Given the description of an element on the screen output the (x, y) to click on. 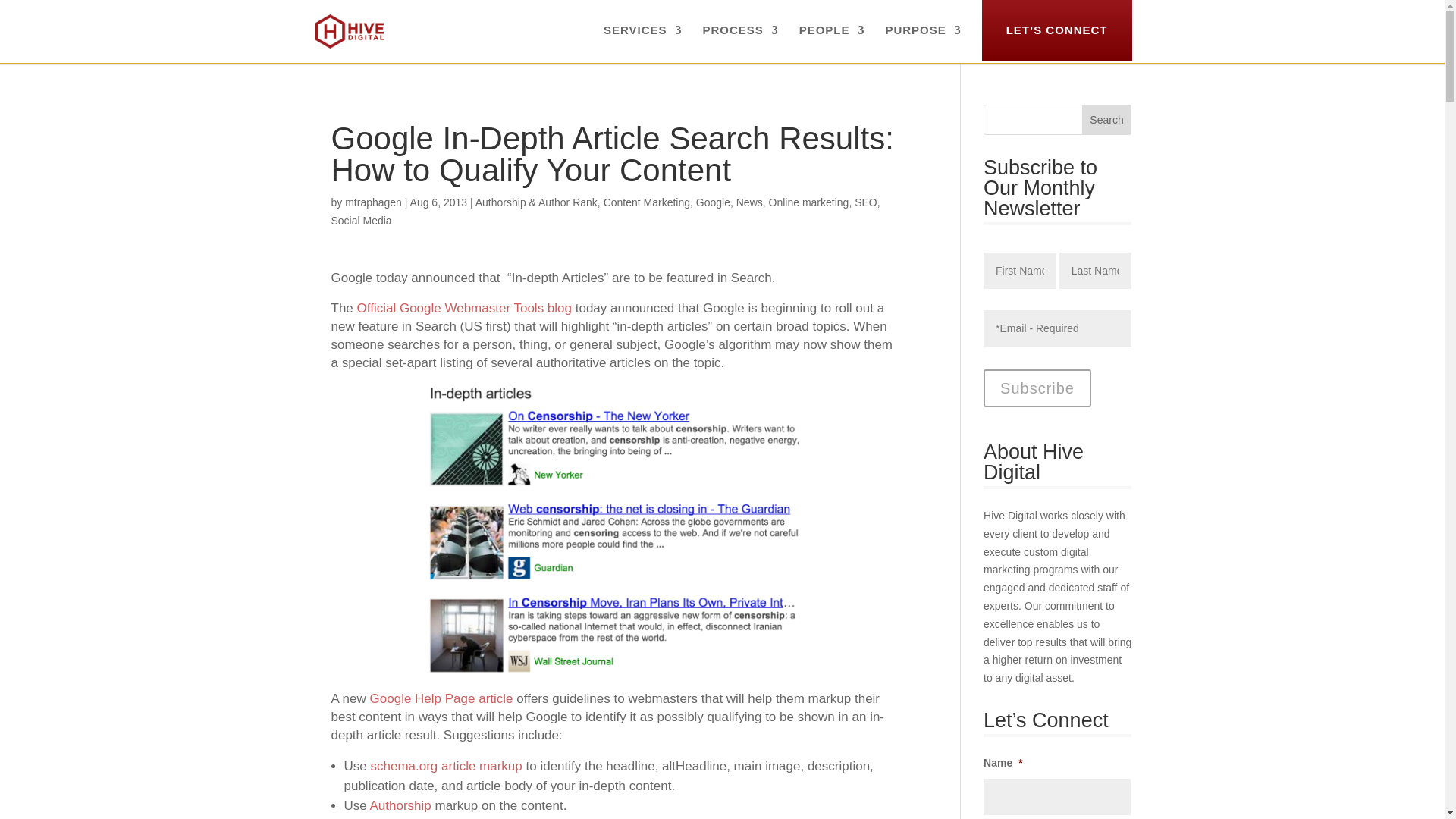
Content Marketing (647, 202)
Search (1106, 119)
SEO (865, 202)
mtraphagen (373, 202)
News (749, 202)
PROCESS (739, 42)
SERVICES (643, 42)
Google Help Page article (441, 698)
Subscribe (1037, 388)
Posts by mtraphagen (373, 202)
